Given the description of an element on the screen output the (x, y) to click on. 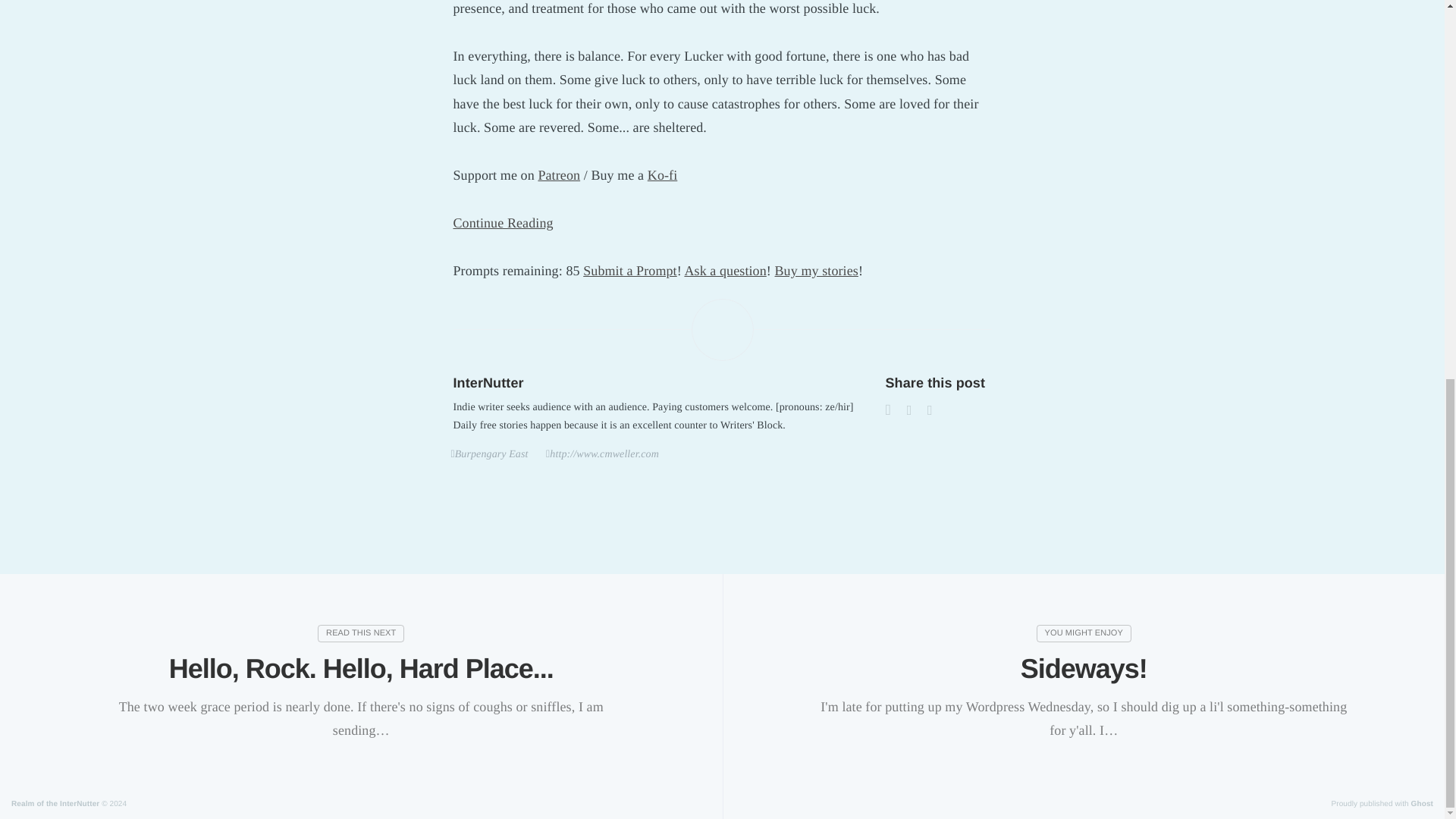
Ask a question (724, 270)
Continue Reading (502, 222)
Submit a Prompt (630, 270)
Ko-fi (662, 174)
Patreon (558, 174)
